Given the description of an element on the screen output the (x, y) to click on. 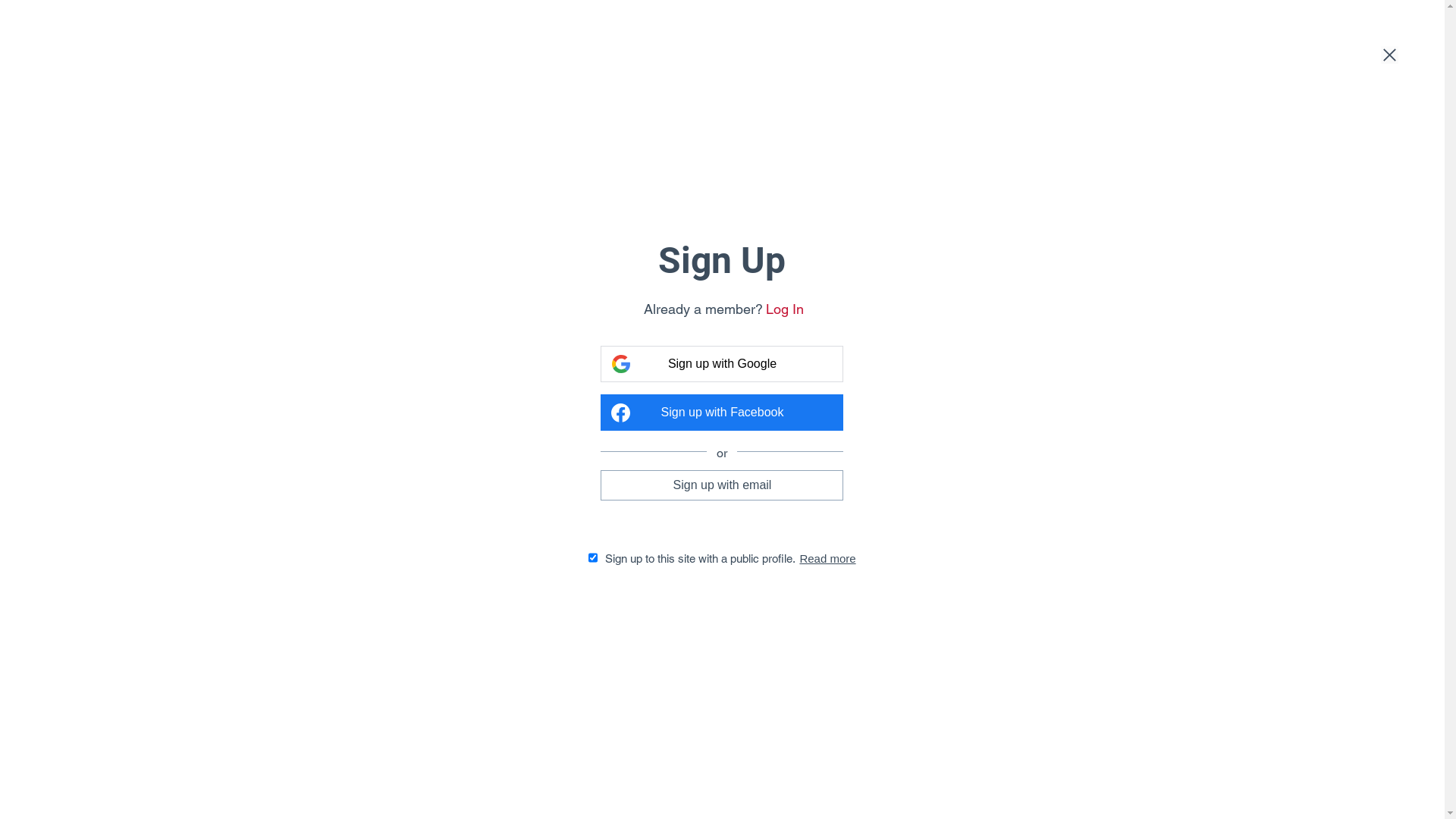
Sign up with Google Element type: text (721, 363)
Sign up with email Element type: text (721, 485)
Read more Element type: text (827, 558)
Log In Element type: text (784, 309)
Sign up with Facebook Element type: text (721, 412)
